Given the description of an element on the screen output the (x, y) to click on. 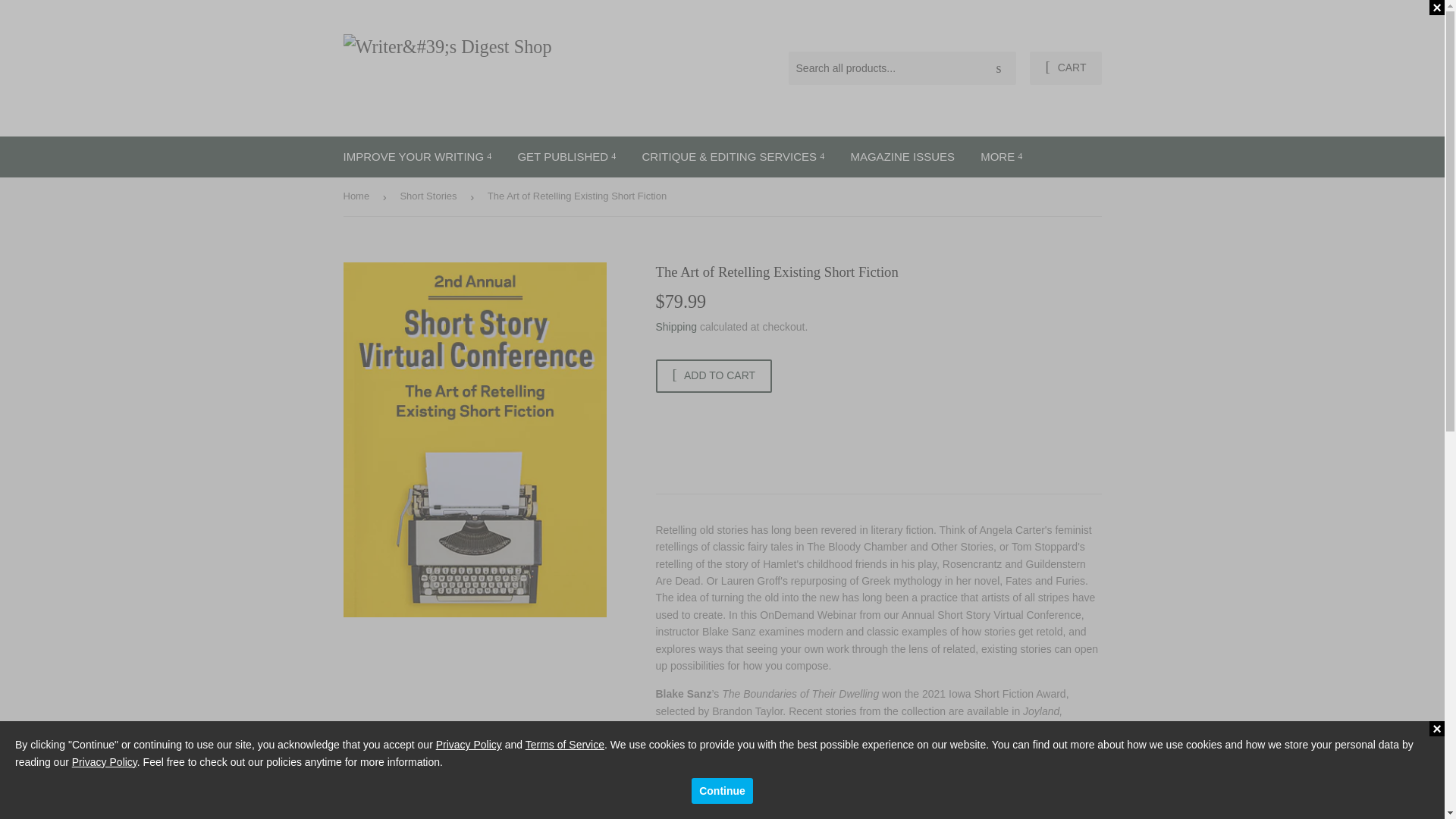
Tweet on Twitter (742, 784)
Share on Facebook (679, 784)
Search (998, 69)
Pin on Pinterest (803, 784)
CART (1064, 68)
